Given the description of an element on the screen output the (x, y) to click on. 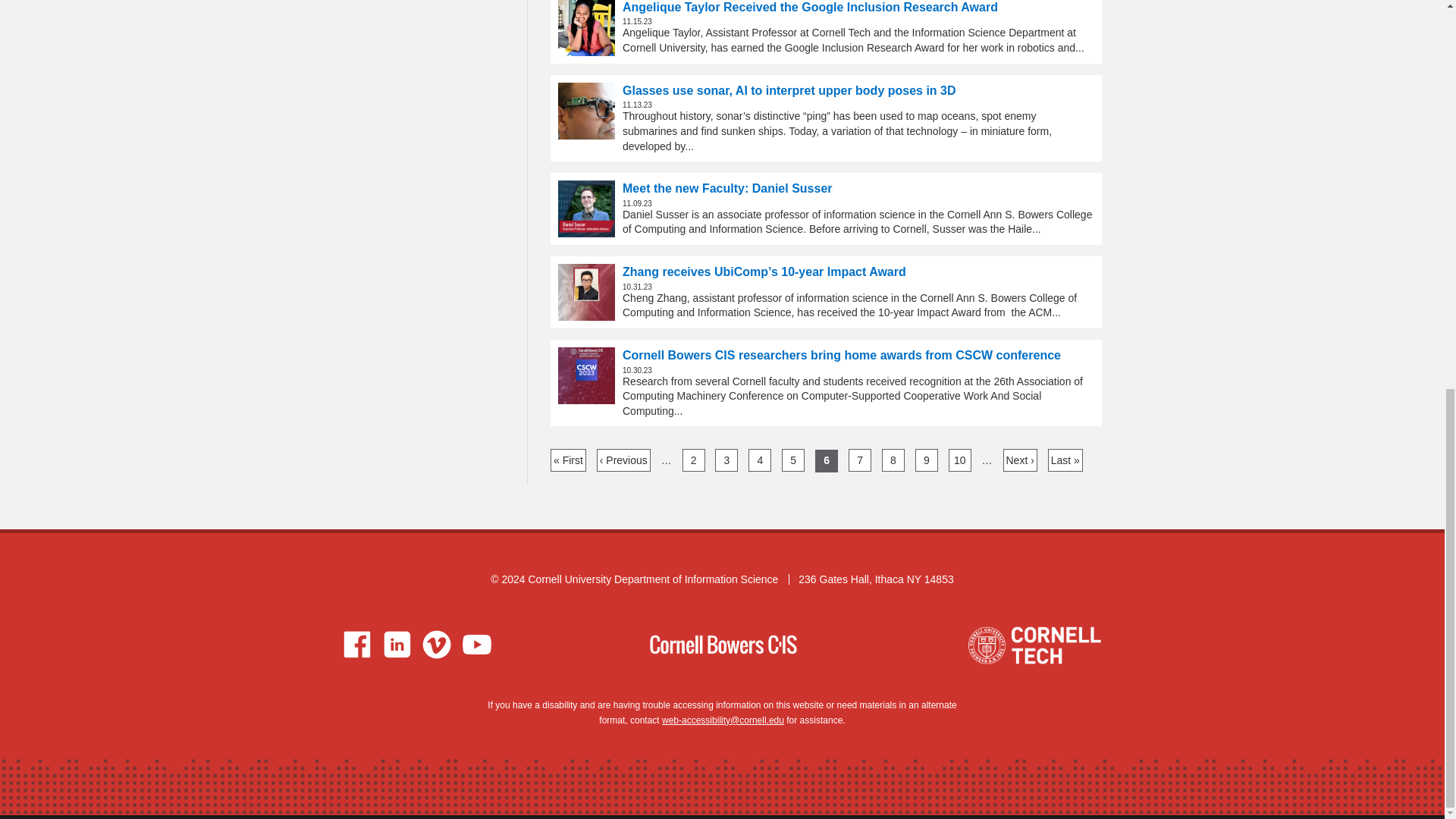
Go to page 5 (793, 459)
Go to first page (568, 459)
Go to page 7 (859, 459)
Glasses use sonar, AI to interpret upper body poses in 3D (585, 110)
Go to page 3 (726, 459)
Go to page 4 (759, 459)
Go to previous page (623, 459)
Go to page 2 (693, 459)
Meet the new Faculty: Daniel Susser (585, 208)
Go to page 8 (893, 459)
